Given the description of an element on the screen output the (x, y) to click on. 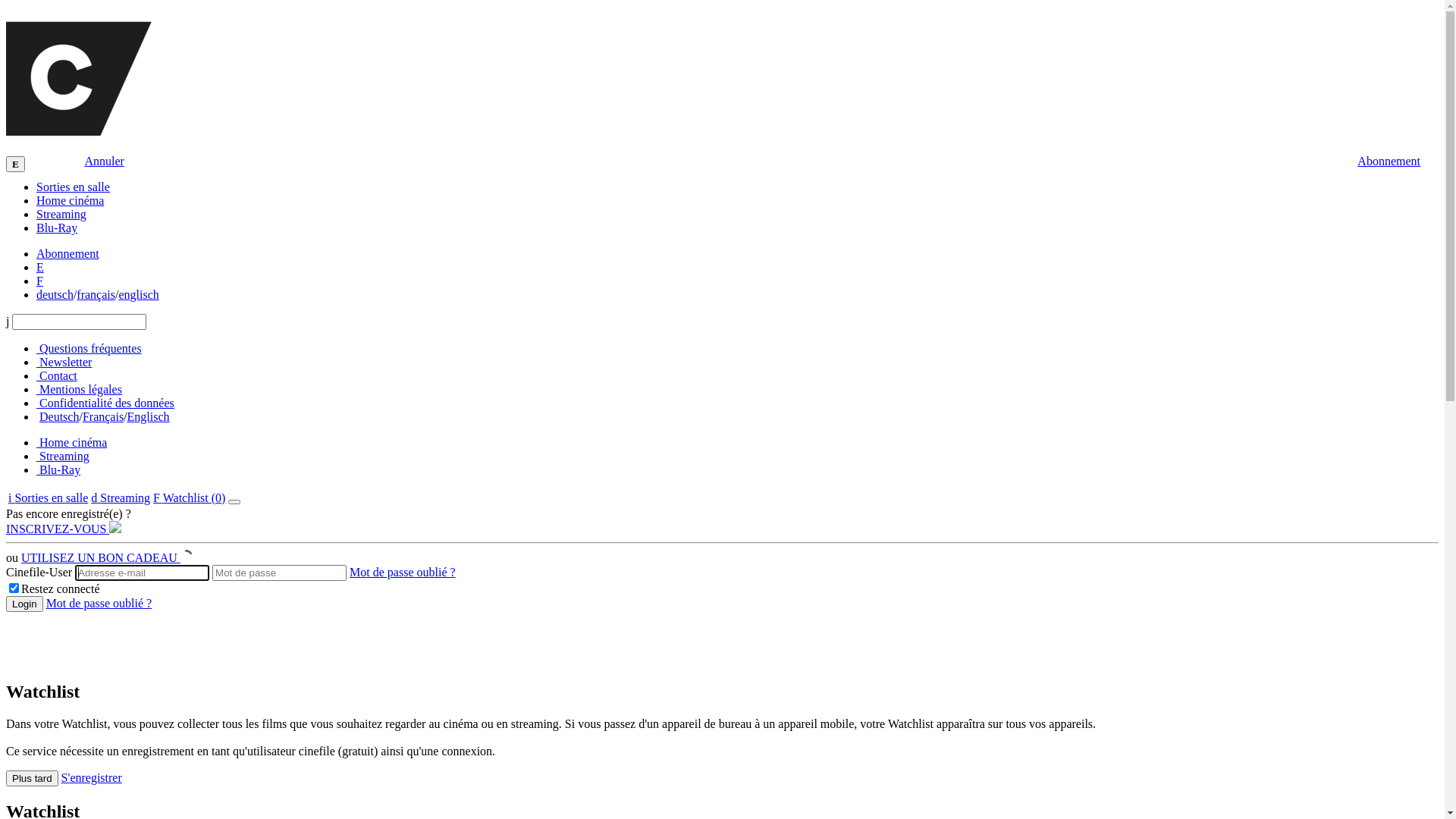
Annuler Element type: text (103, 160)
F Element type: text (39, 280)
E Element type: text (39, 266)
Streaming Element type: text (62, 455)
deutsch Element type: text (54, 294)
Abonnement Element type: text (1388, 161)
i Sorties en salle Element type: text (47, 497)
englisch Element type: text (138, 294)
d Streaming Element type: text (120, 497)
Englisch Element type: text (148, 416)
Newsletter Element type: text (63, 361)
Plus tard Element type: text (32, 778)
Streaming Element type: text (61, 213)
Login Element type: text (24, 603)
Sorties en salle Element type: text (72, 186)
Changer la navigation Element type: text (234, 501)
INSCRIVEZ-VOUS Element type: text (63, 528)
S'enregistrer Element type: text (91, 777)
Abonnement Element type: text (67, 253)
Deutsch Element type: text (58, 416)
E Element type: text (15, 164)
F Watchlist (0) Element type: text (189, 497)
UTILISEZ UN BON CADEAU Element type: text (106, 557)
Blu-Ray Element type: text (58, 469)
Contact Element type: text (56, 375)
Blu-Ray Element type: text (56, 227)
